Given the description of an element on the screen output the (x, y) to click on. 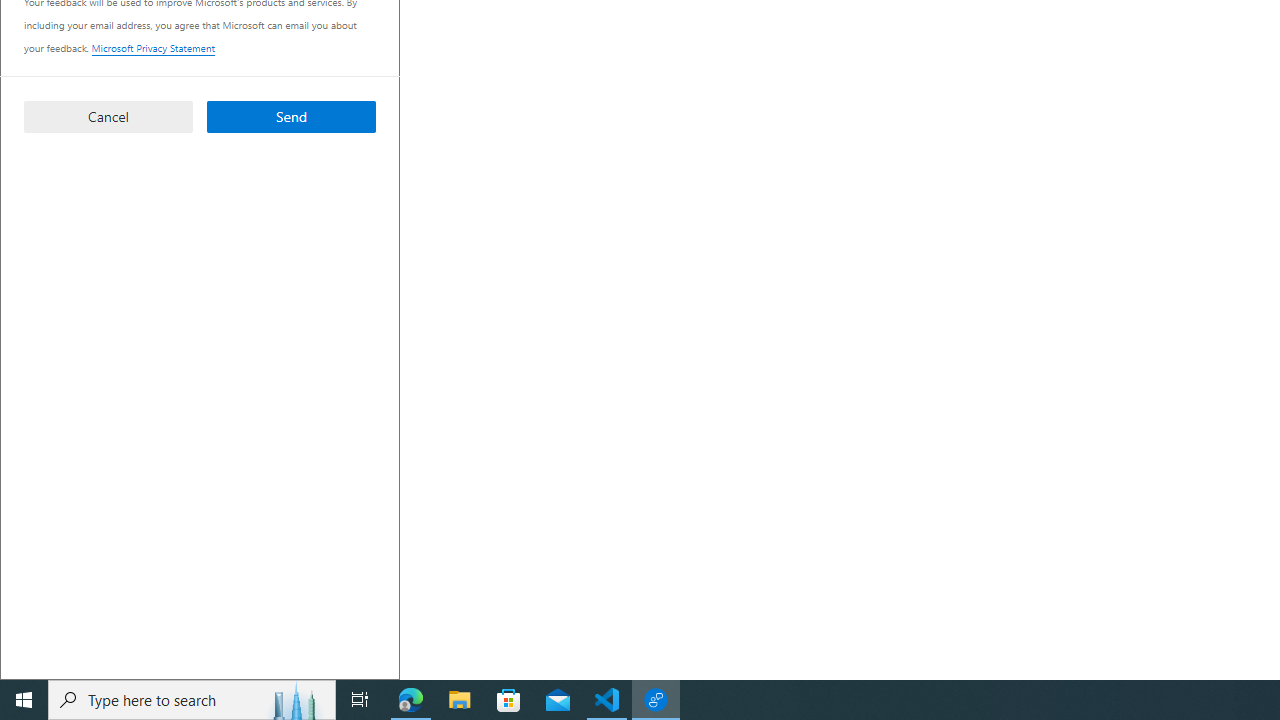
Microsoft Privacy Statement (152, 48)
Send (291, 116)
Cancel (108, 116)
